Given the description of an element on the screen output the (x, y) to click on. 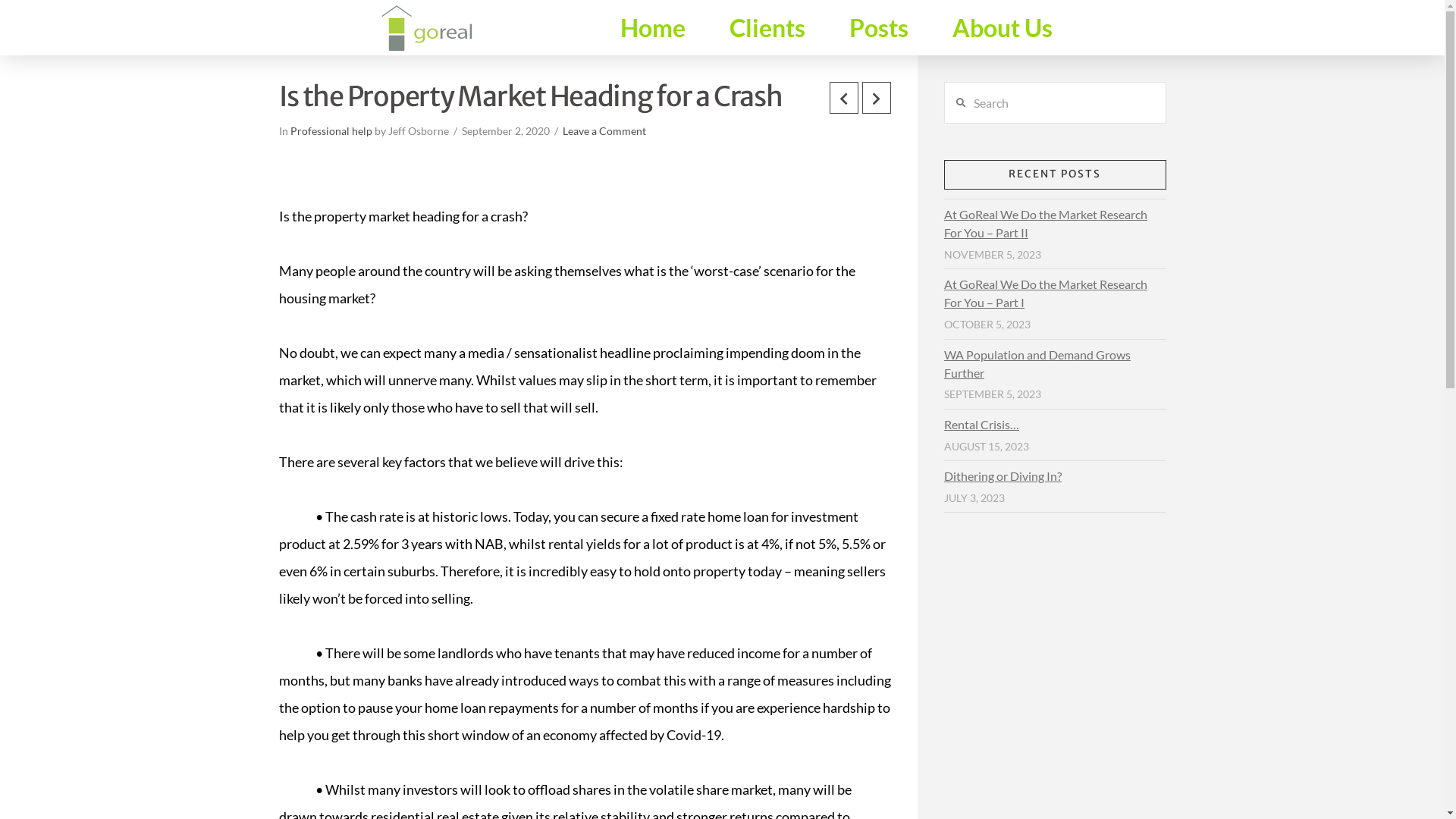
Clients Element type: text (766, 27)
Dithering or Diving In? Element type: text (1002, 475)
Home Element type: text (651, 27)
WA Population and Demand Grows Further Element type: text (1037, 363)
Professional help Element type: text (330, 131)
Posts Element type: text (877, 27)
About Us Element type: text (1001, 27)
Leave a Comment Element type: text (604, 131)
